Given the description of an element on the screen output the (x, y) to click on. 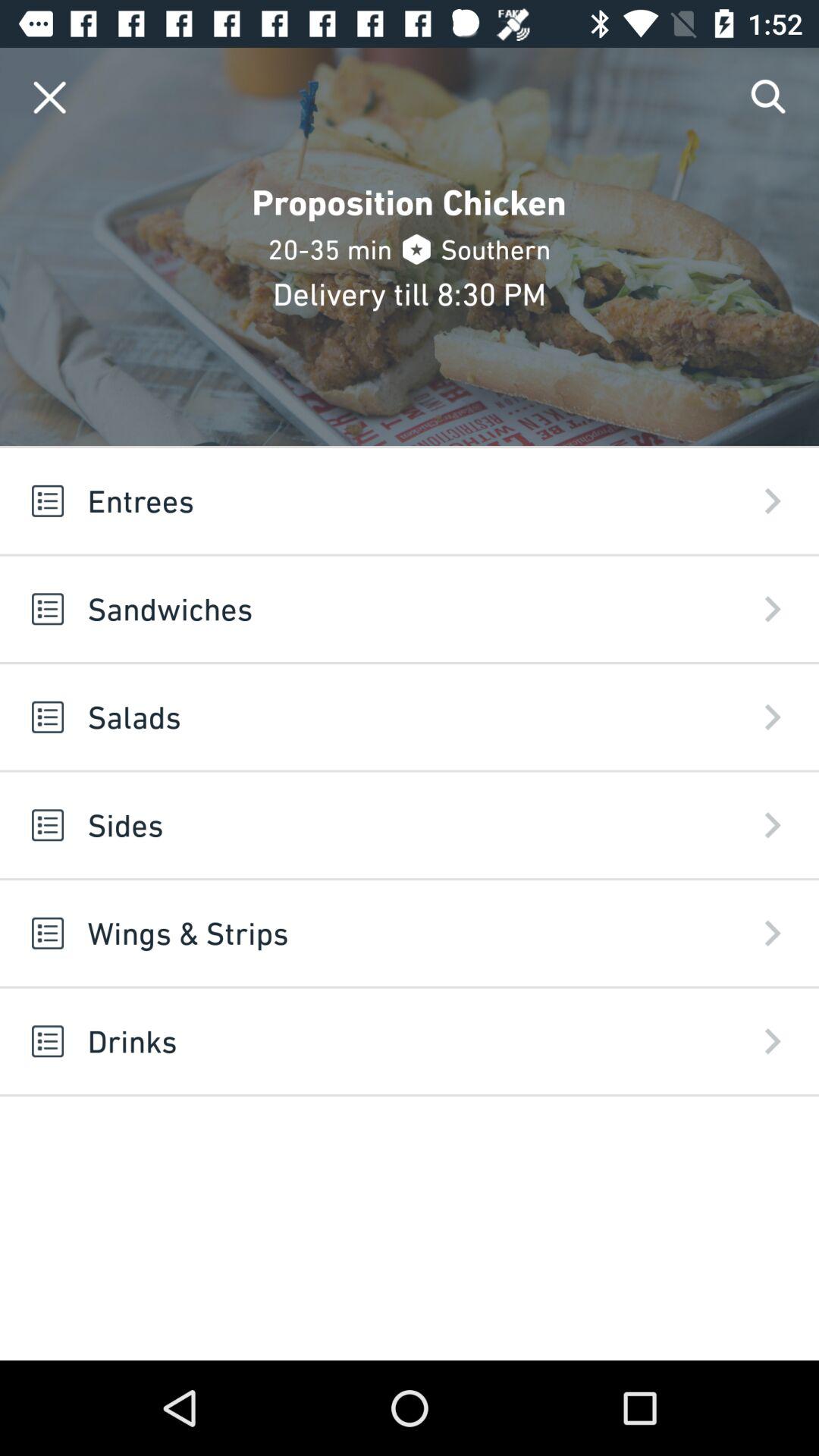
tap the item above the entrees (49, 97)
